Given the description of an element on the screen output the (x, y) to click on. 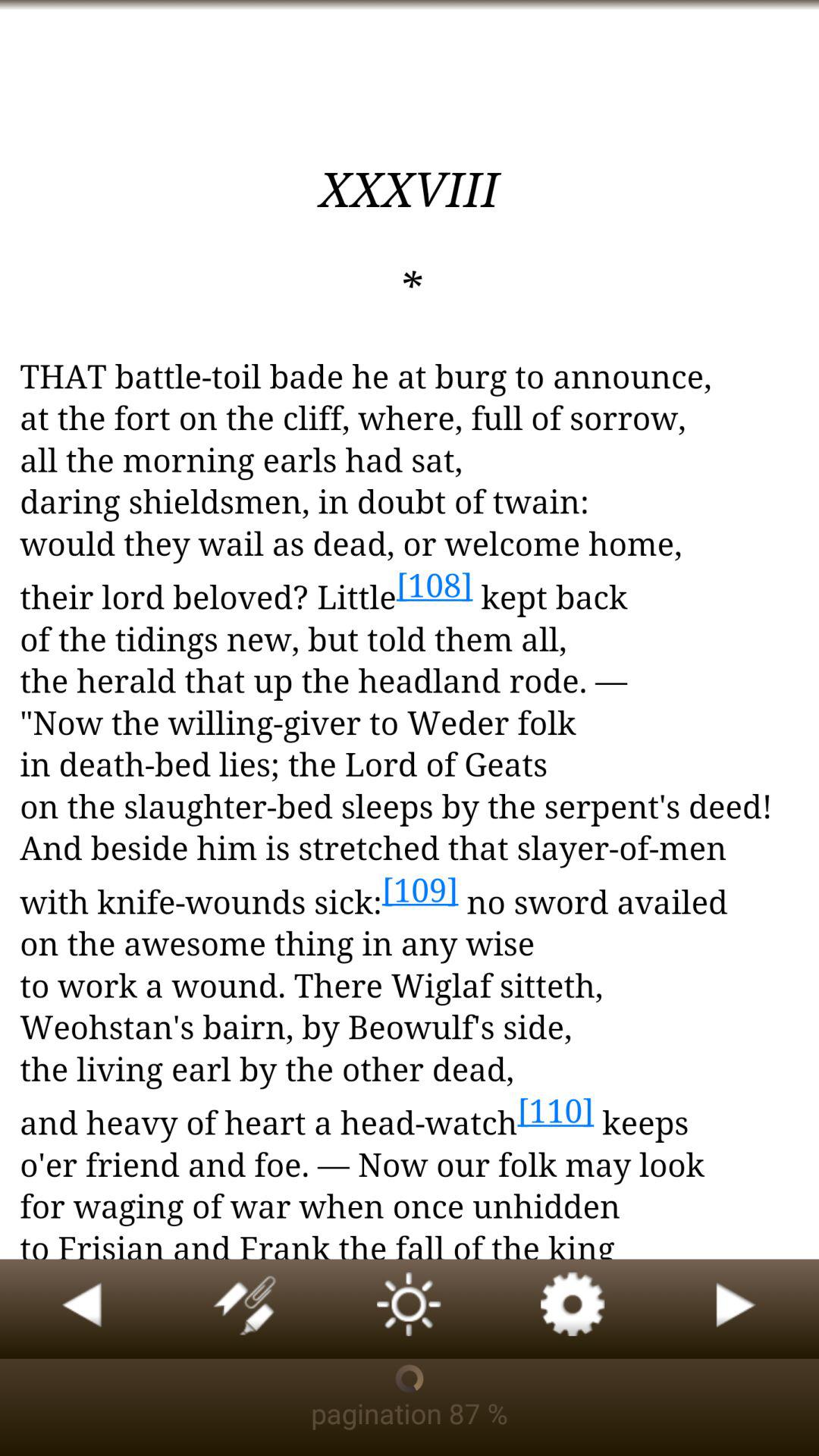
click to brightness option (409, 1308)
